Given the description of an element on the screen output the (x, y) to click on. 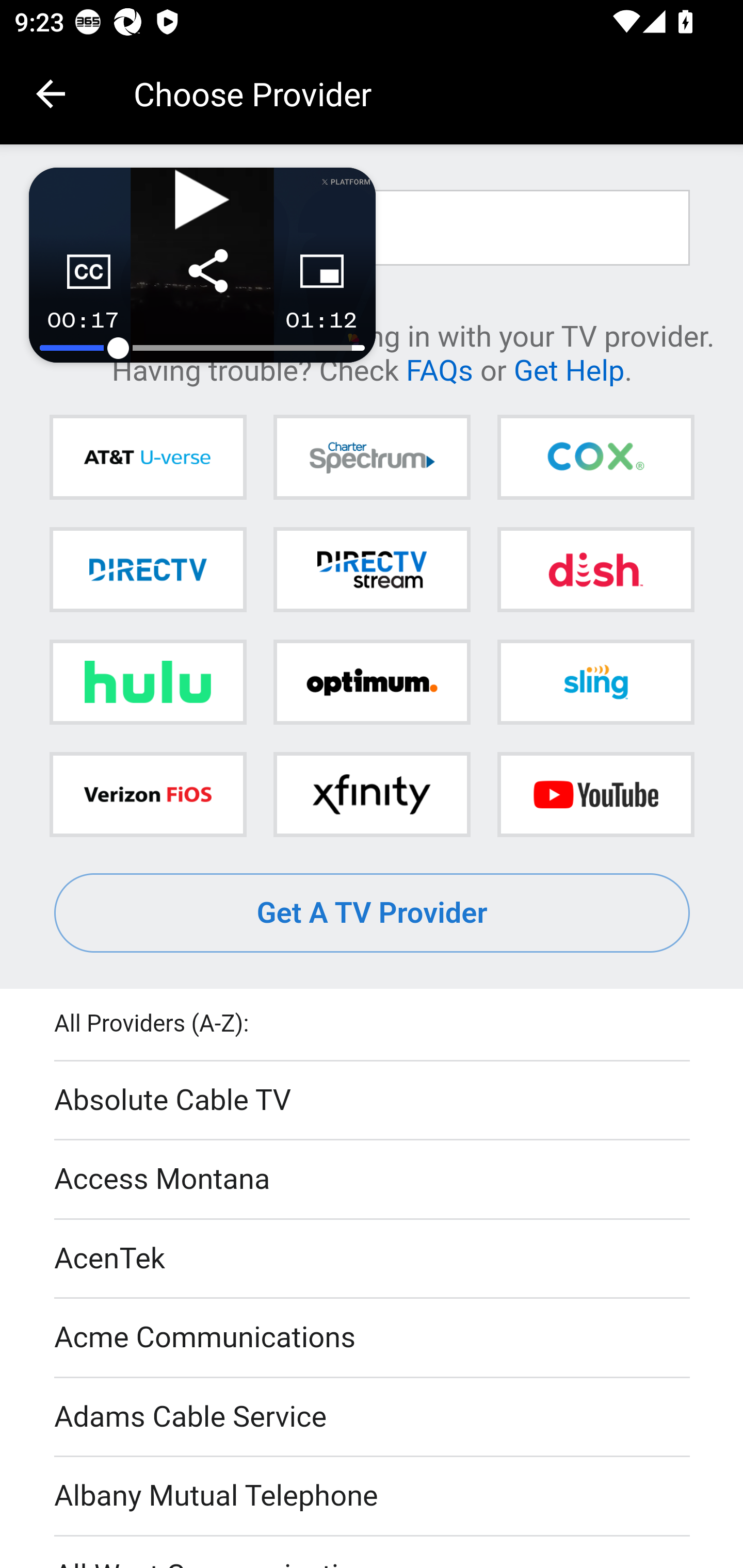
Navigate up (50, 93)
FAQs (438, 369)
Get Help (569, 369)
AT&T U-verse (147, 457)
Charter Spectrum (371, 457)
Cox (595, 457)
DIRECTV (147, 568)
DIRECTV STREAM (371, 568)
DISH (595, 568)
Hulu (147, 681)
Optimum (371, 681)
Sling TV (595, 681)
Verizon FiOS (147, 793)
Xfinity (371, 793)
YouTube TV (595, 793)
Get A TV Provider (372, 912)
Absolute Cable TV (372, 1100)
Access Montana (372, 1178)
AcenTek (372, 1258)
Acme Communications (372, 1338)
Adams Cable Service (372, 1417)
Albany Mutual Telephone (372, 1497)
